Given the description of an element on the screen output the (x, y) to click on. 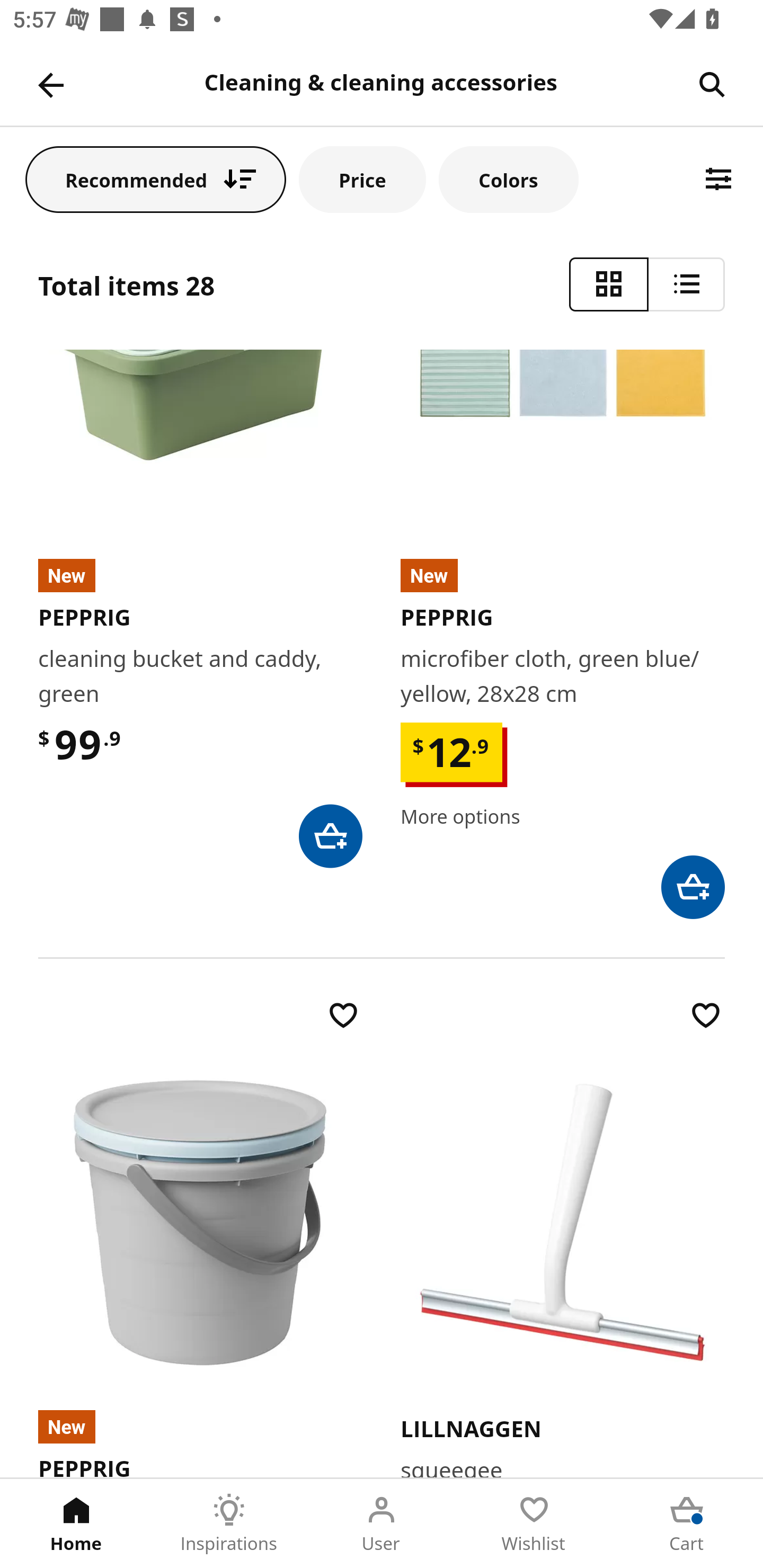
Recommended (155, 179)
Price (362, 179)
Colors (508, 179)
​L​I​L​L​N​A​G​G​E​N​
squeegee
$
9
.9 (562, 1237)
Home
Tab 1 of 5 (76, 1522)
Inspirations
Tab 2 of 5 (228, 1522)
User
Tab 3 of 5 (381, 1522)
Wishlist
Tab 4 of 5 (533, 1522)
Cart
Tab 5 of 5 (686, 1522)
